Given the description of an element on the screen output the (x, y) to click on. 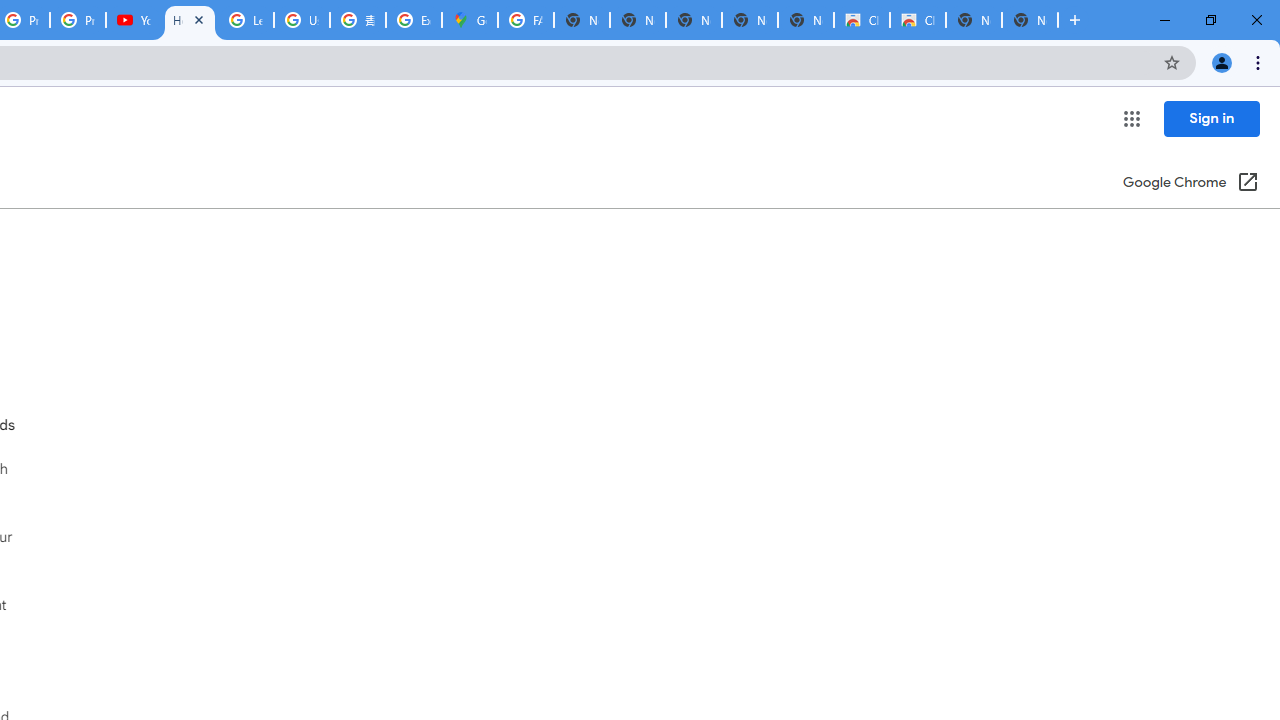
Classic Blue - Chrome Web Store (861, 20)
Privacy Checkup (77, 20)
YouTube (134, 20)
How Chrome protects your passwords - Google Chrome Help (189, 20)
Google Chrome (Open in a new window) (1190, 183)
Classic Blue - Chrome Web Store (917, 20)
New Tab (1030, 20)
